Given the description of an element on the screen output the (x, y) to click on. 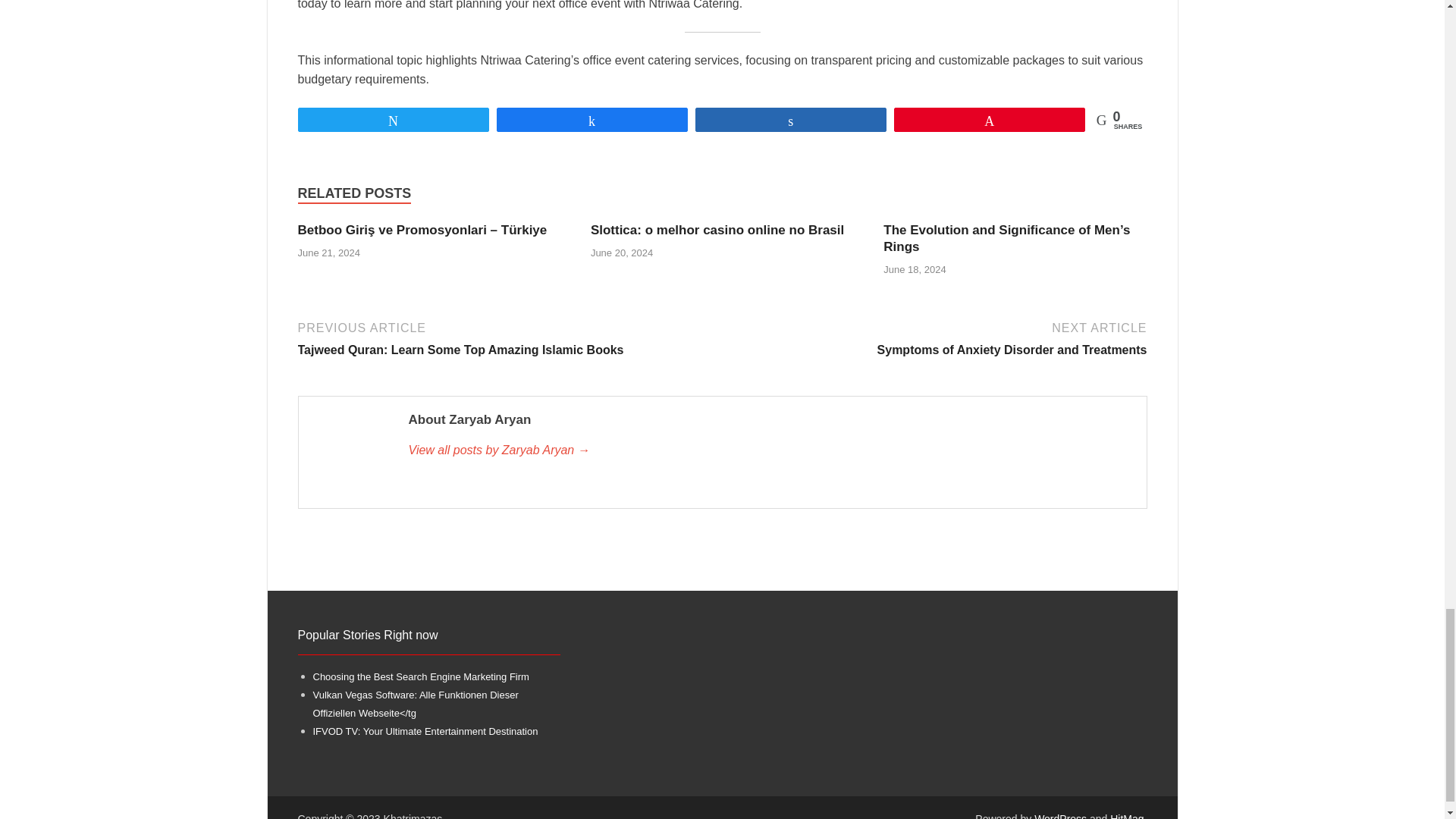
Slottica: o melhor casino online no Brasil (717, 229)
Choosing the Best Search Engine Marketing Firm (420, 676)
Slottica: o melhor casino online no Brasil (717, 229)
Zaryab Aryan (769, 450)
